Given the description of an element on the screen output the (x, y) to click on. 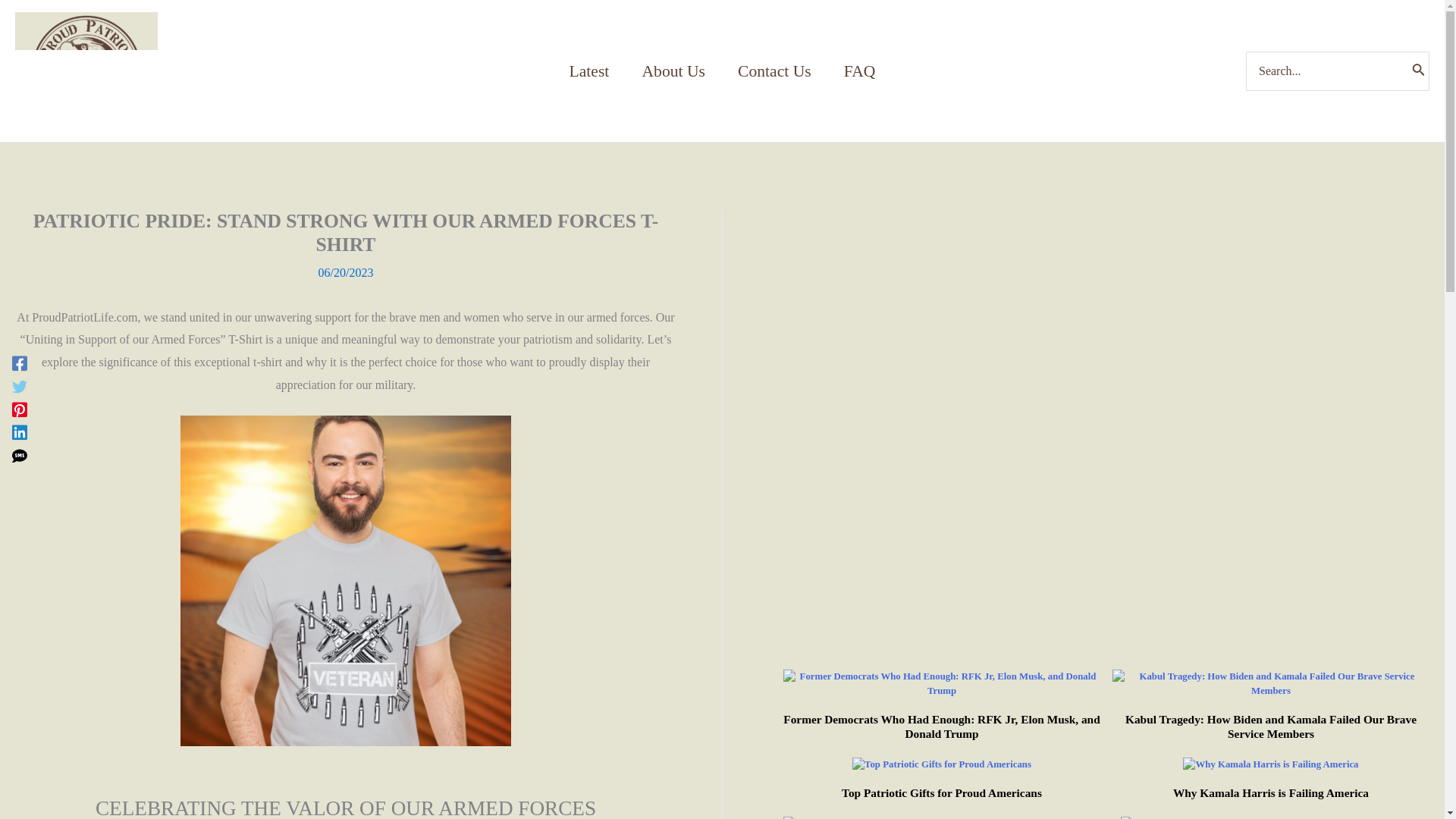
About Us (674, 70)
FAQ (859, 70)
Latest (589, 70)
Contact Us (773, 70)
Top Patriotic Gifts for Proud Americans (941, 792)
